Given the description of an element on the screen output the (x, y) to click on. 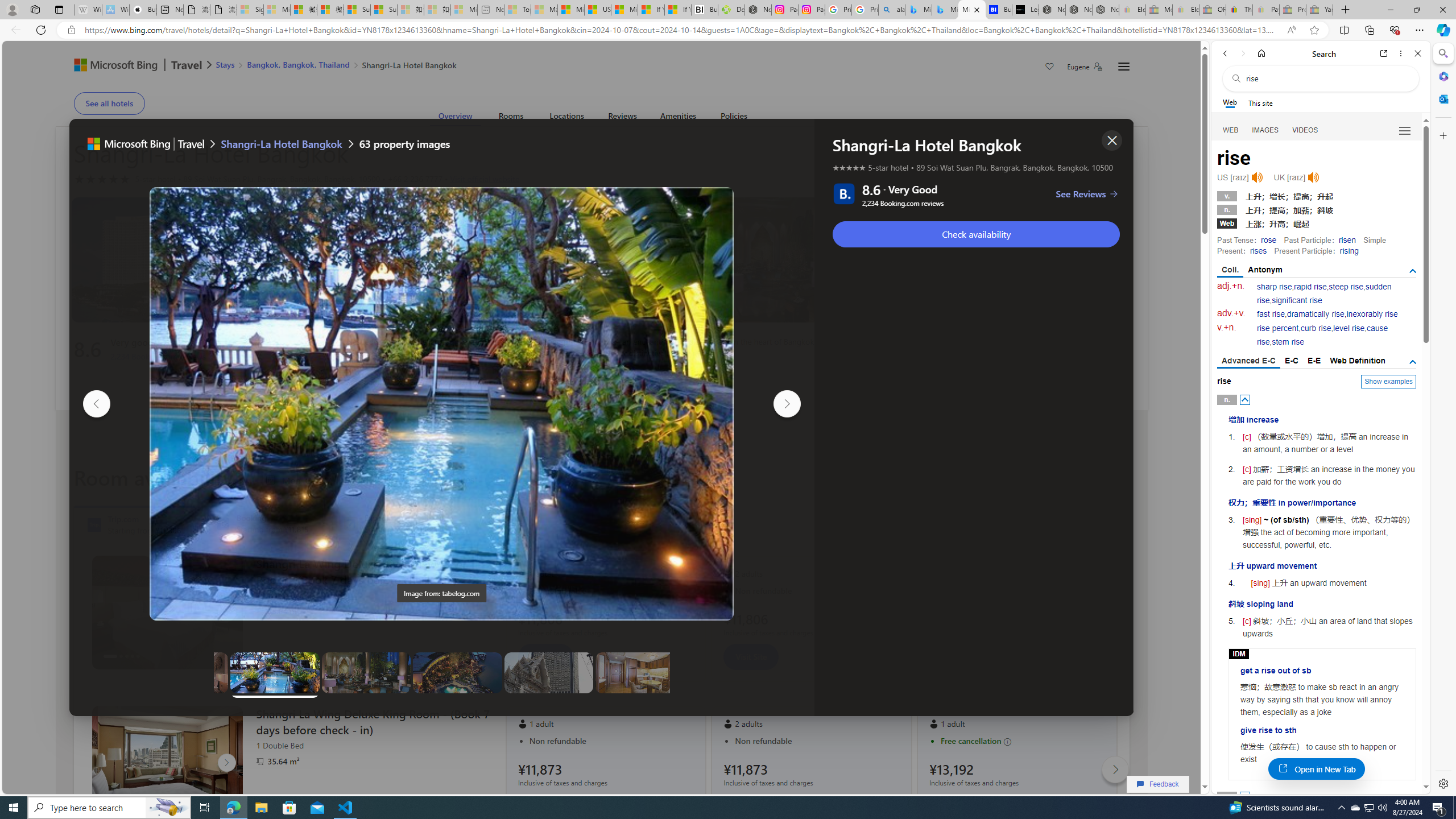
Antonym (1265, 269)
stem rise (1287, 341)
AutomationID: posbtn_0 (1245, 399)
Web Definition (1357, 360)
level rise (1349, 328)
